Given the description of an element on the screen output the (x, y) to click on. 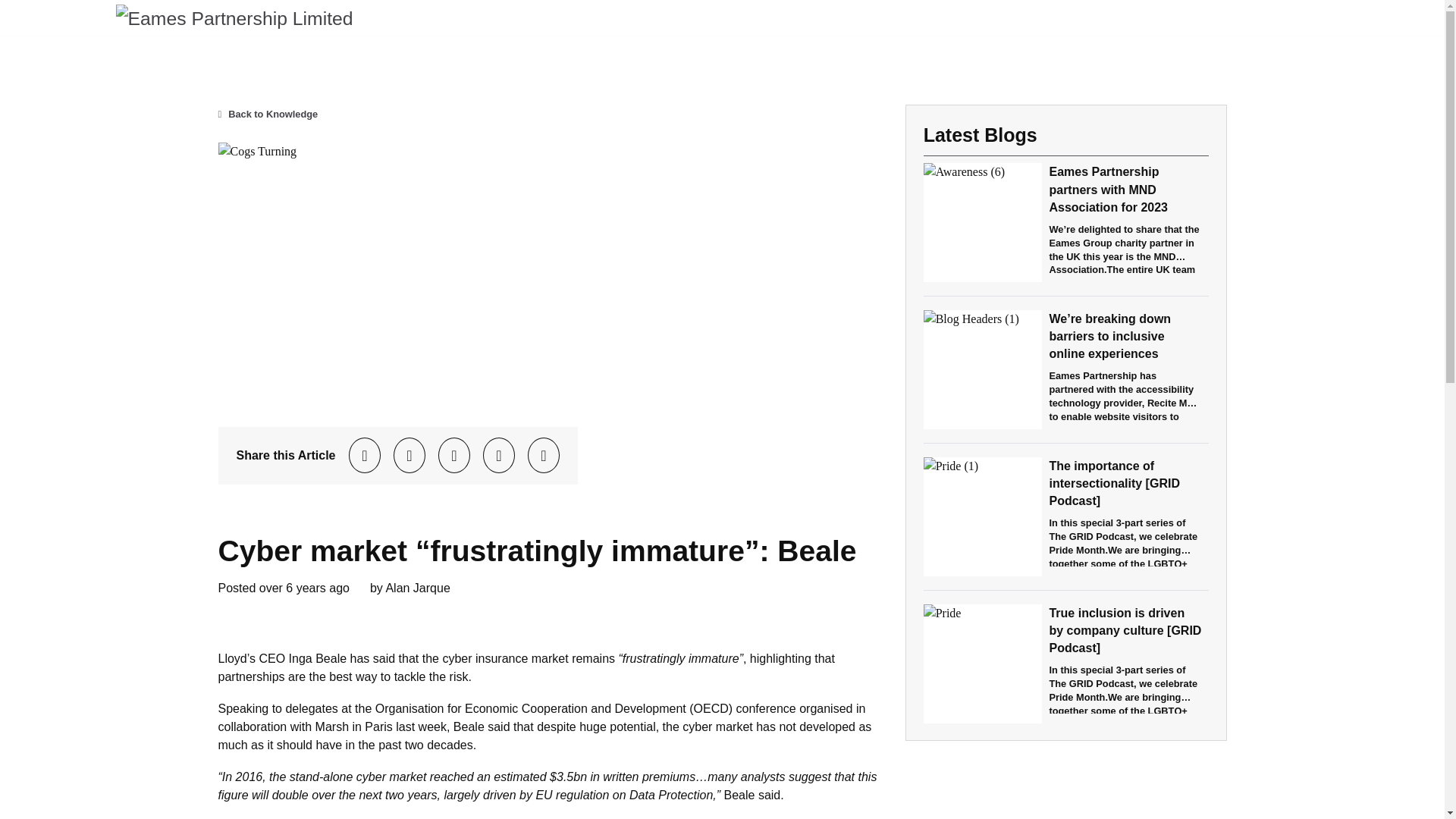
Email (543, 455)
Eames Partnership partners with MND Association for 2023 (1107, 188)
Services (1135, 17)
Testimonials (1222, 17)
Contact (1307, 17)
Twitter (365, 455)
Back to Knowledge (268, 114)
WhatsApp (499, 455)
About us (1059, 17)
LinkedIn (454, 455)
Facebook (409, 455)
